Given the description of an element on the screen output the (x, y) to click on. 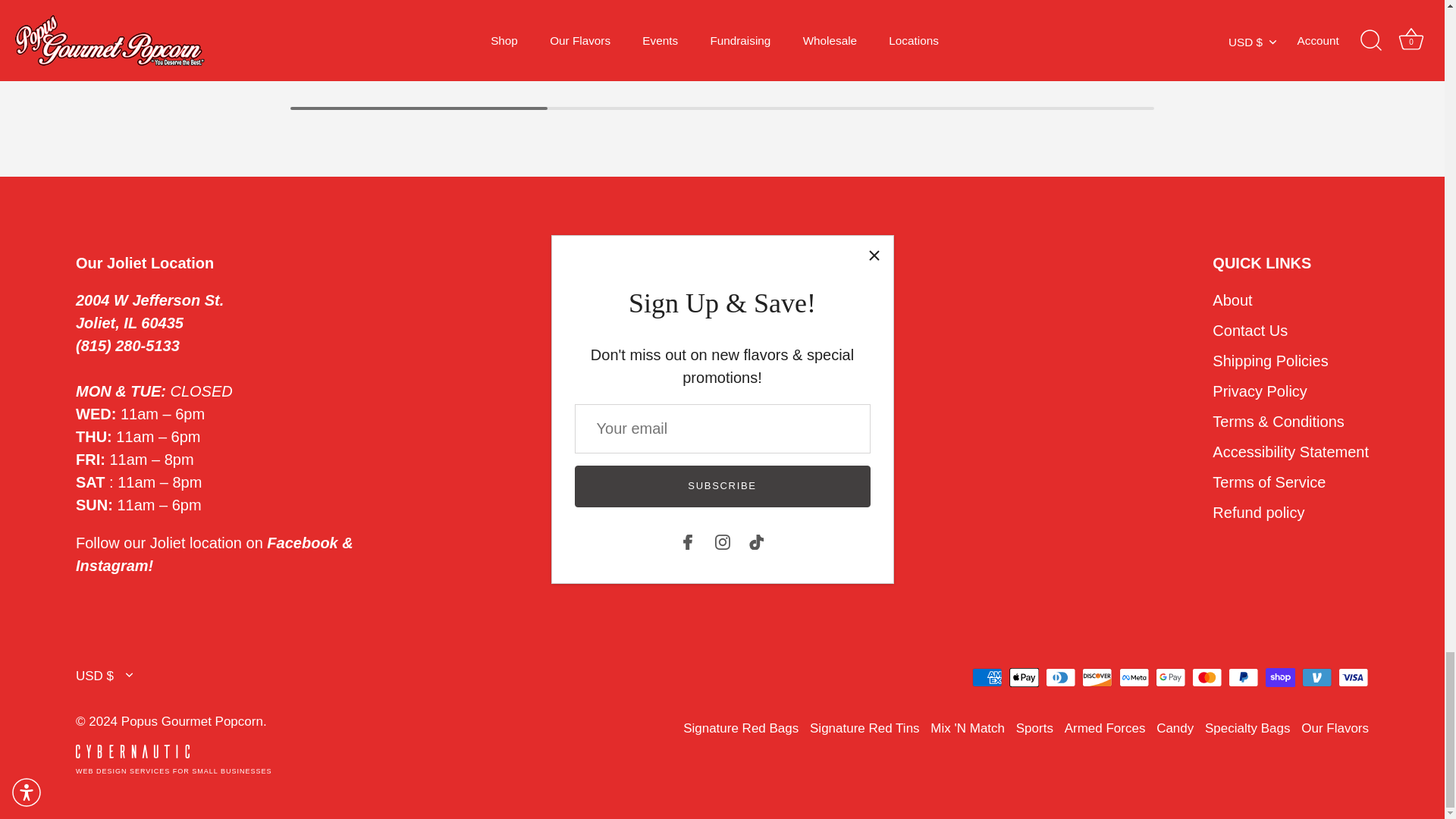
Meta Pay (1133, 677)
Apple Pay (1024, 677)
American Express (986, 677)
PayPal (1242, 677)
Discover (1096, 677)
Mastercard (1206, 677)
Google Pay (1170, 677)
Diners Club (1060, 677)
